Given the description of an element on the screen output the (x, y) to click on. 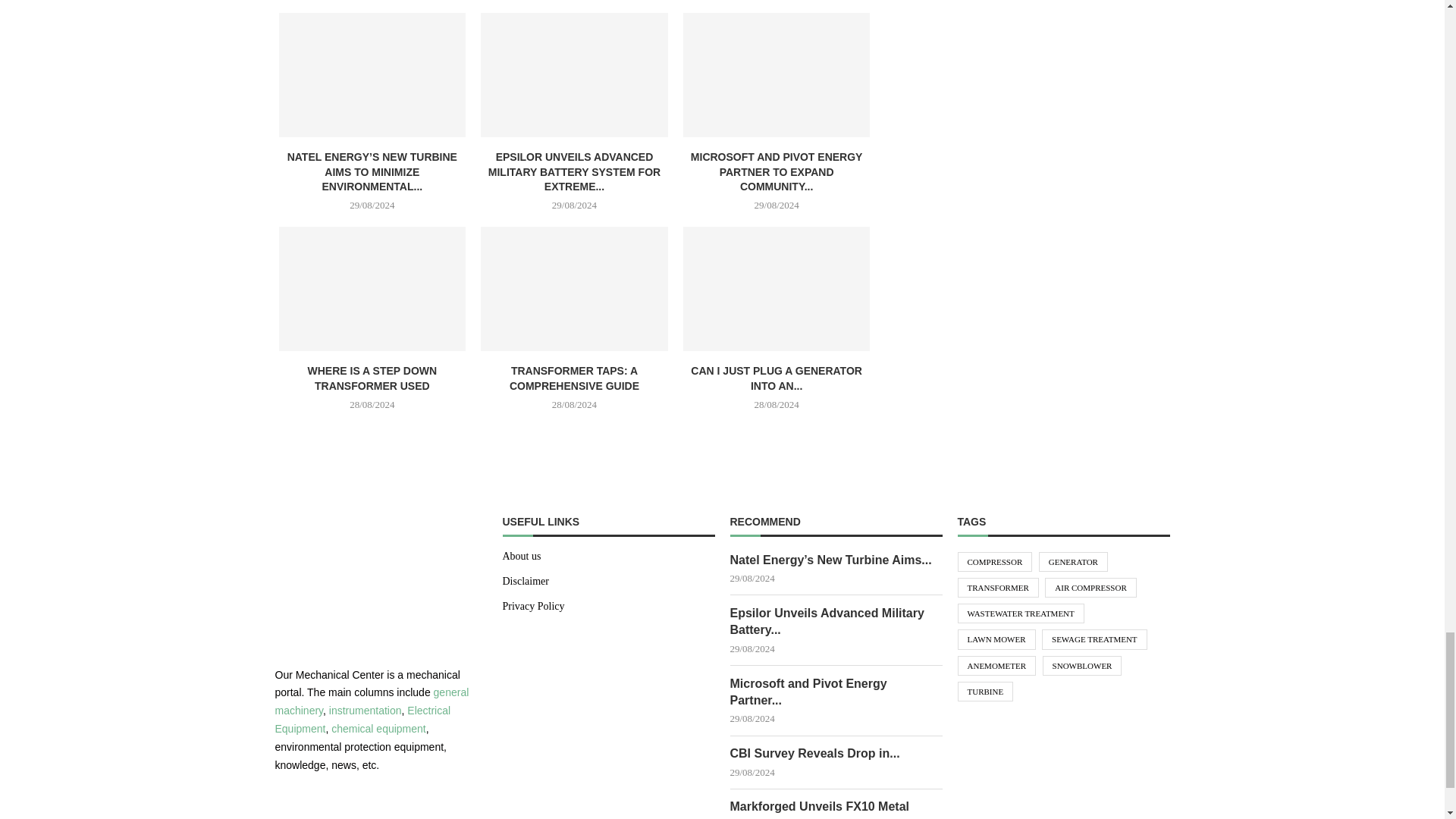
Where Is A Step Down Transformer Used (372, 288)
Transformer Taps: A Comprehensive Guide (574, 288)
